Given the description of an element on the screen output the (x, y) to click on. 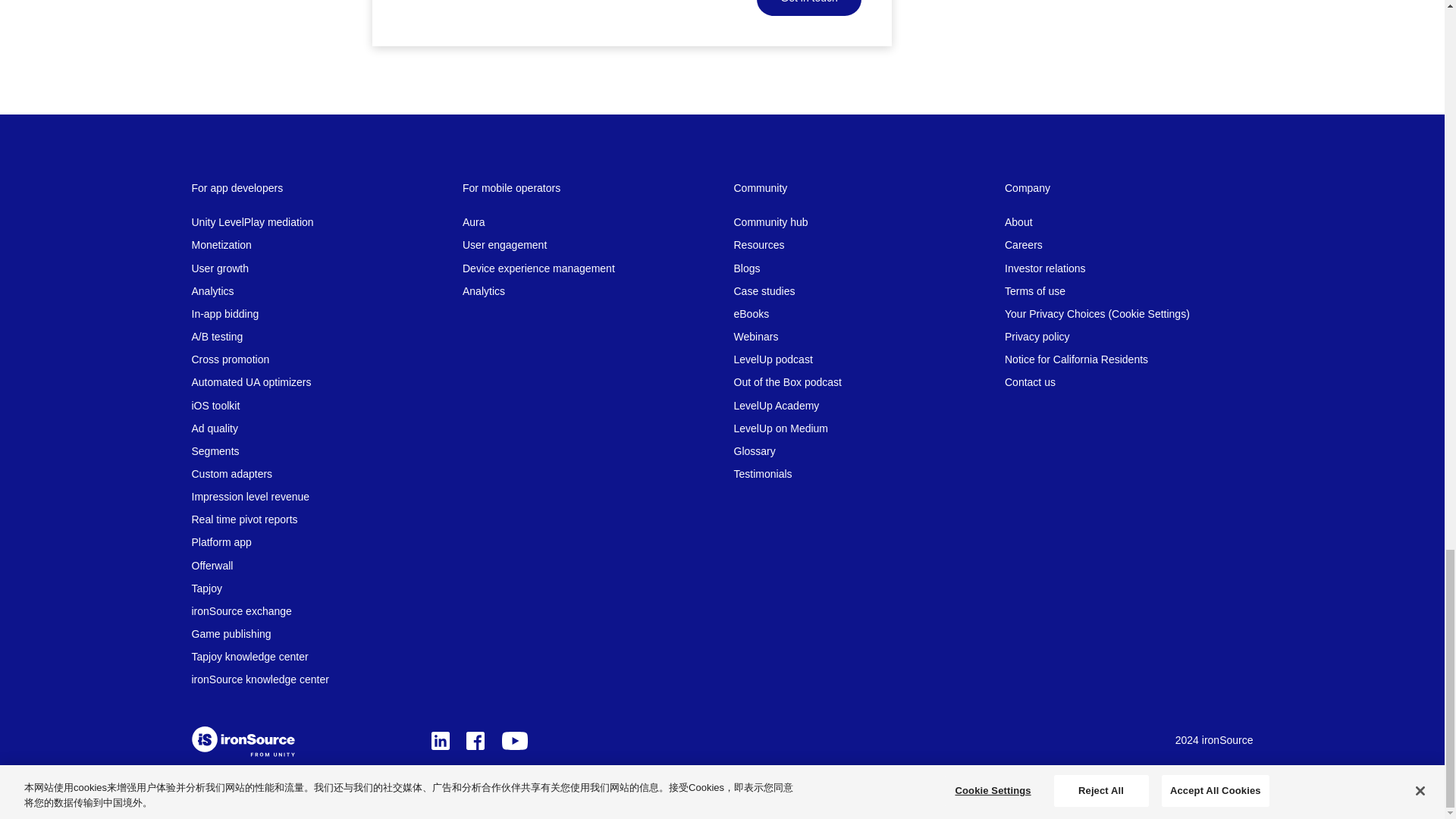
Iron Source (242, 741)
